Given the description of an element on the screen output the (x, y) to click on. 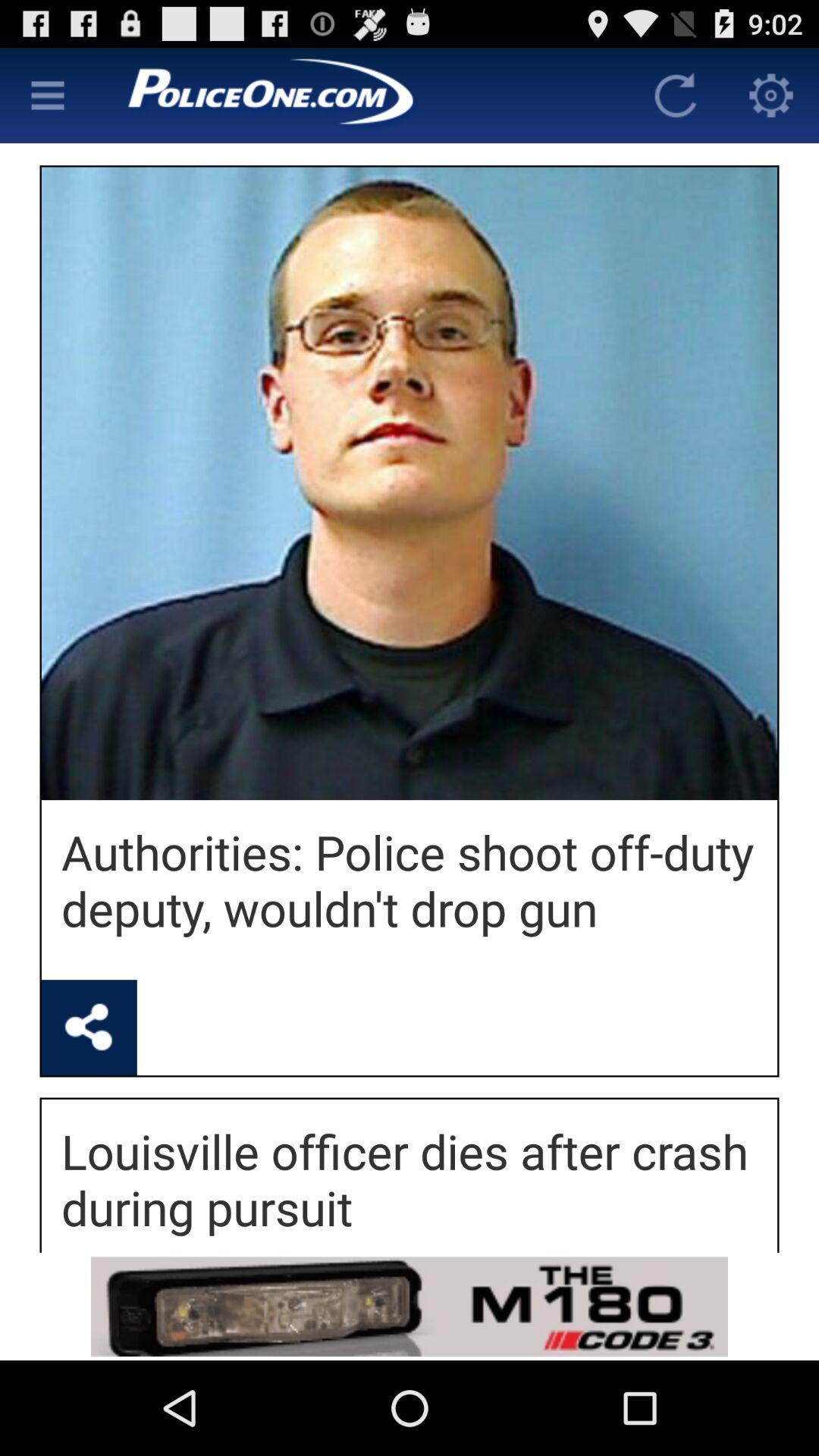
refresh button (675, 95)
